Given the description of an element on the screen output the (x, y) to click on. 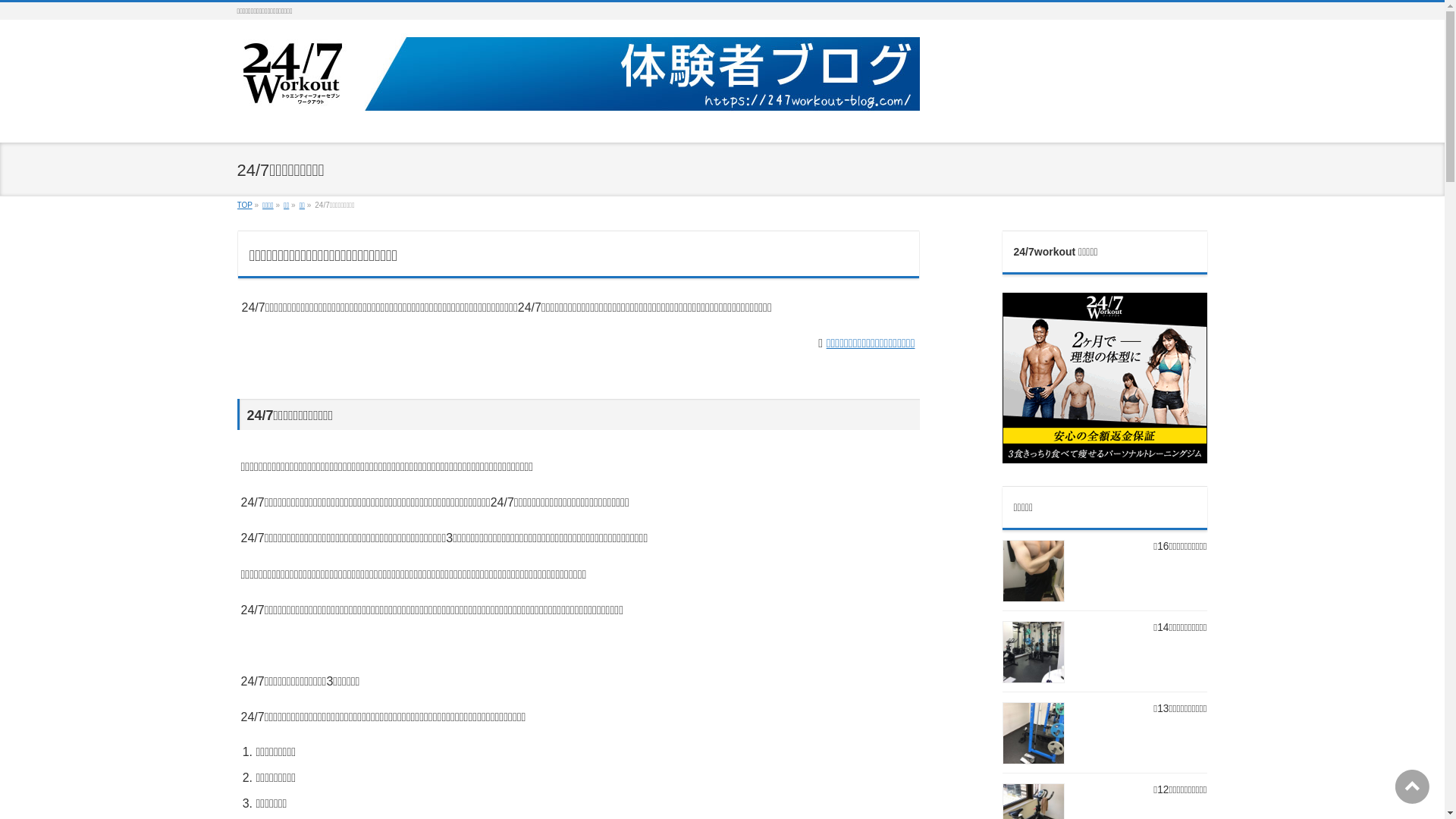
TOP Element type: text (243, 204)
